Given the description of an element on the screen output the (x, y) to click on. 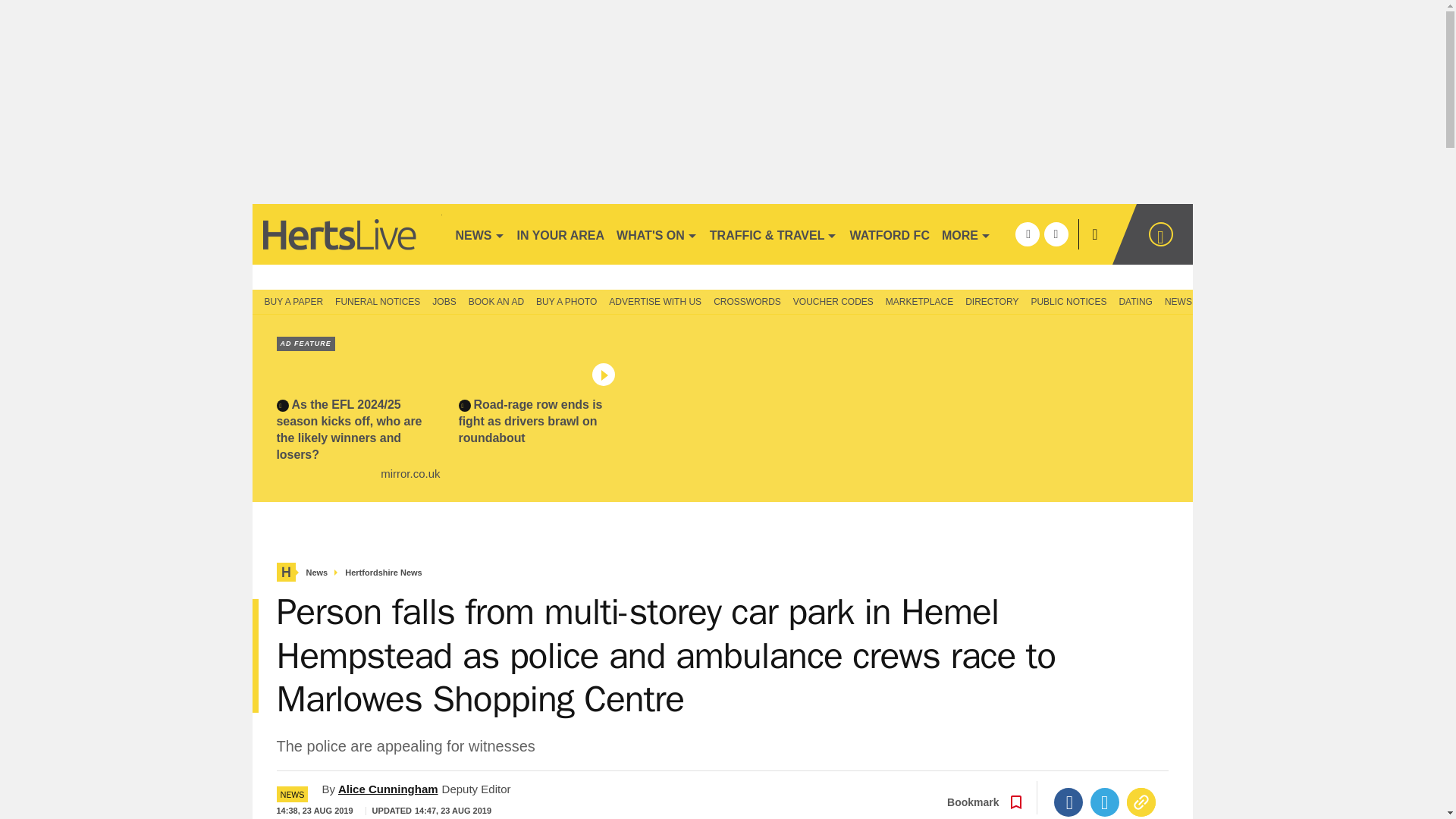
WHAT'S ON (656, 233)
IN YOUR AREA (561, 233)
MORE (966, 233)
NEWS (479, 233)
hertfordshiremercury (346, 233)
Facebook (1068, 801)
twitter (1055, 233)
Twitter (1104, 801)
WATFORD FC (888, 233)
facebook (1026, 233)
